Given the description of an element on the screen output the (x, y) to click on. 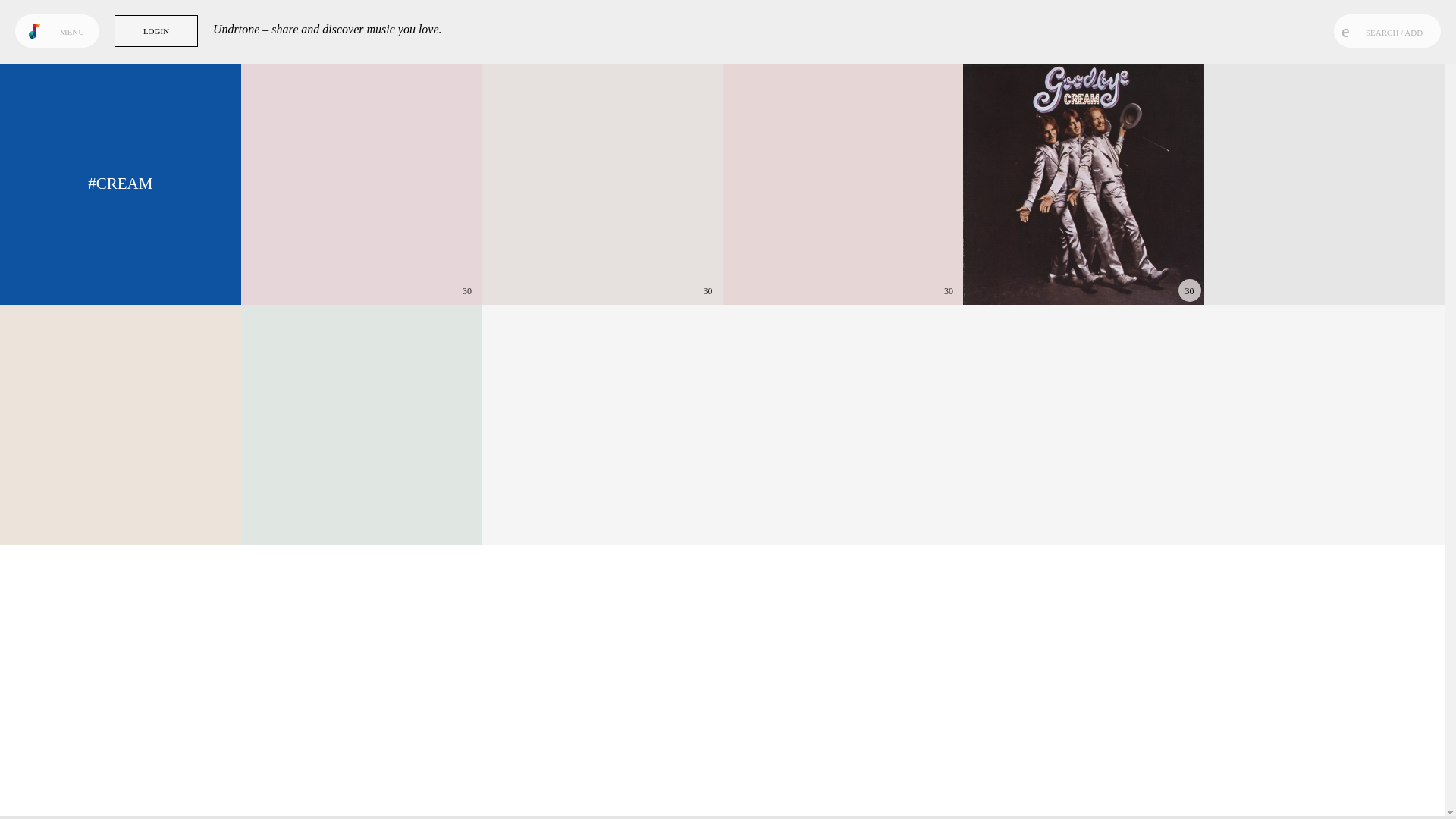
Login (78, 797)
Legal (93, 785)
Trending Tracks (68, 40)
Tags (68, 68)
Contact (67, 785)
Terms of Service (93, 785)
LOGIN (156, 30)
Tracks (68, 40)
Trending People (68, 96)
MENU (74, 30)
Trending Tags (68, 68)
Press (41, 785)
FAQs (55, 797)
People (68, 96)
Press (41, 785)
